Given the description of an element on the screen output the (x, y) to click on. 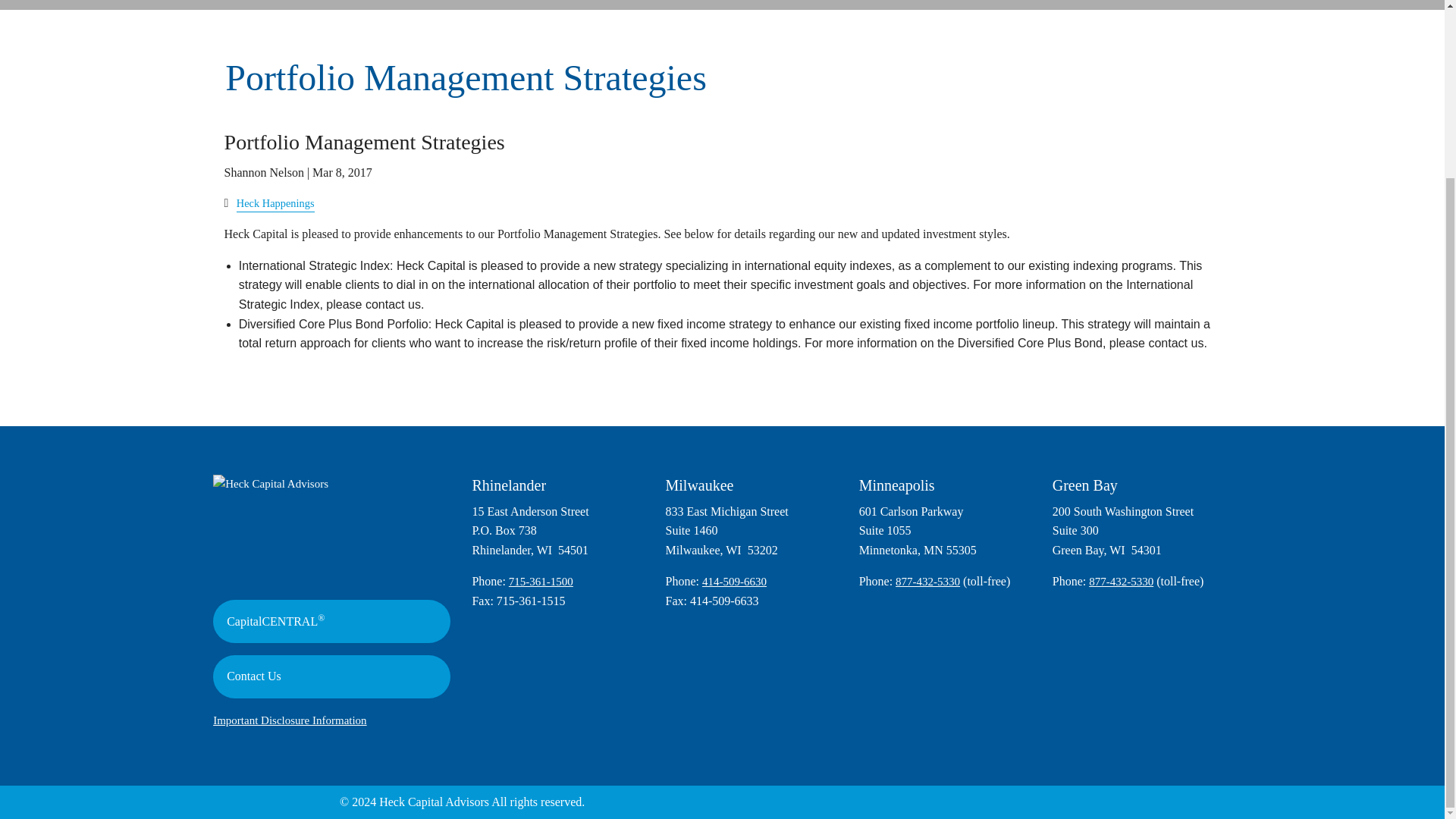
877-432-5330 (927, 581)
Contact Us (330, 676)
Heck Happenings (274, 203)
877-432-5330 (1121, 581)
414-509-6630 (734, 581)
Important Disclosure Information (289, 720)
715-361-1500 (540, 581)
Important Disclosure Information (289, 720)
Contact Us (330, 676)
